Given the description of an element on the screen output the (x, y) to click on. 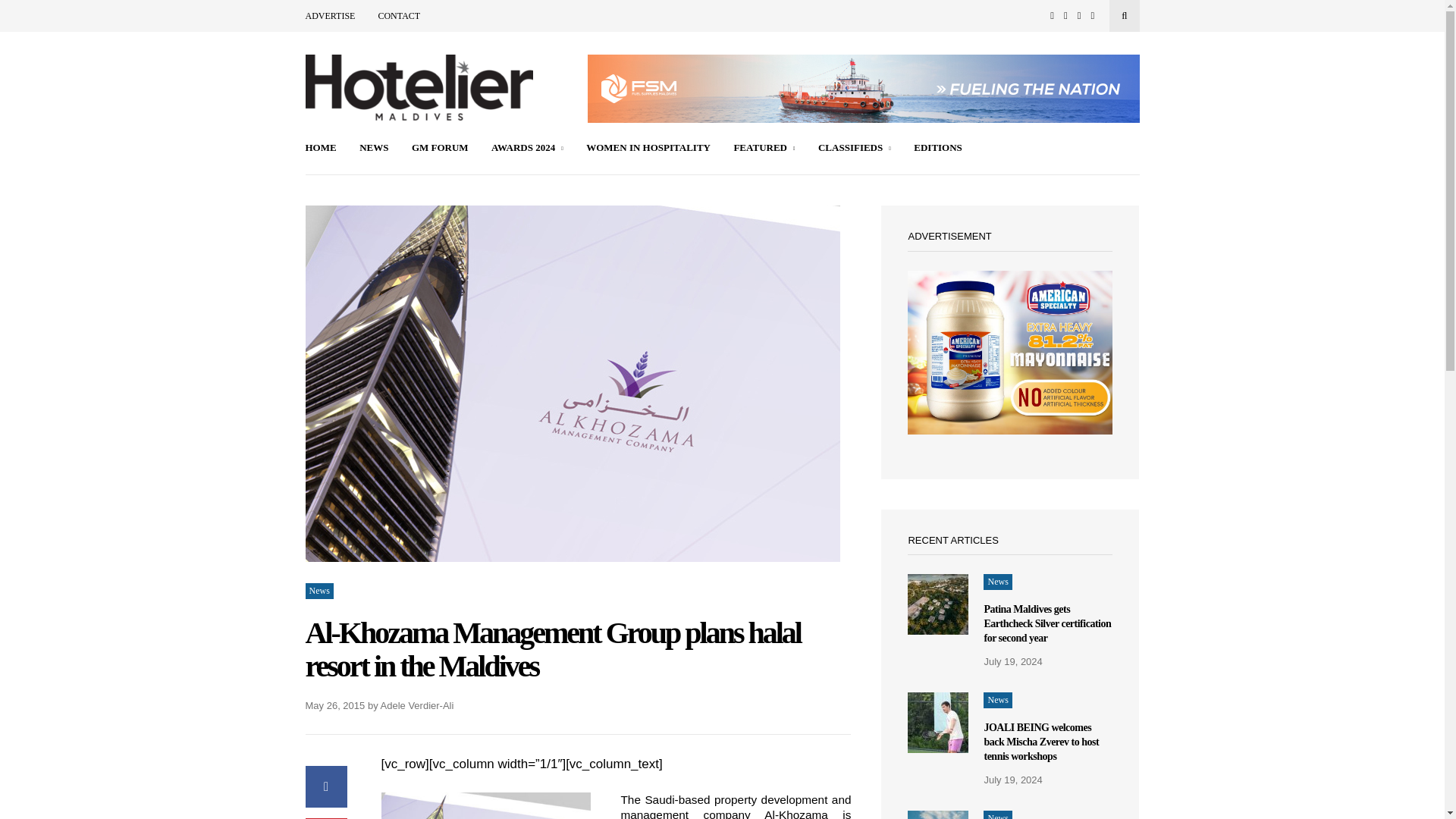
GM FORUM (440, 148)
FEATURED (763, 148)
EDITIONS (938, 148)
AWARDS 2024 (527, 148)
ADVERTISE (329, 15)
Adele Verdier-Ali (417, 705)
News (318, 590)
CLASSIFIEDS (854, 148)
CONTACT (398, 15)
WOMEN IN HOSPITALITY (648, 148)
